Given the description of an element on the screen output the (x, y) to click on. 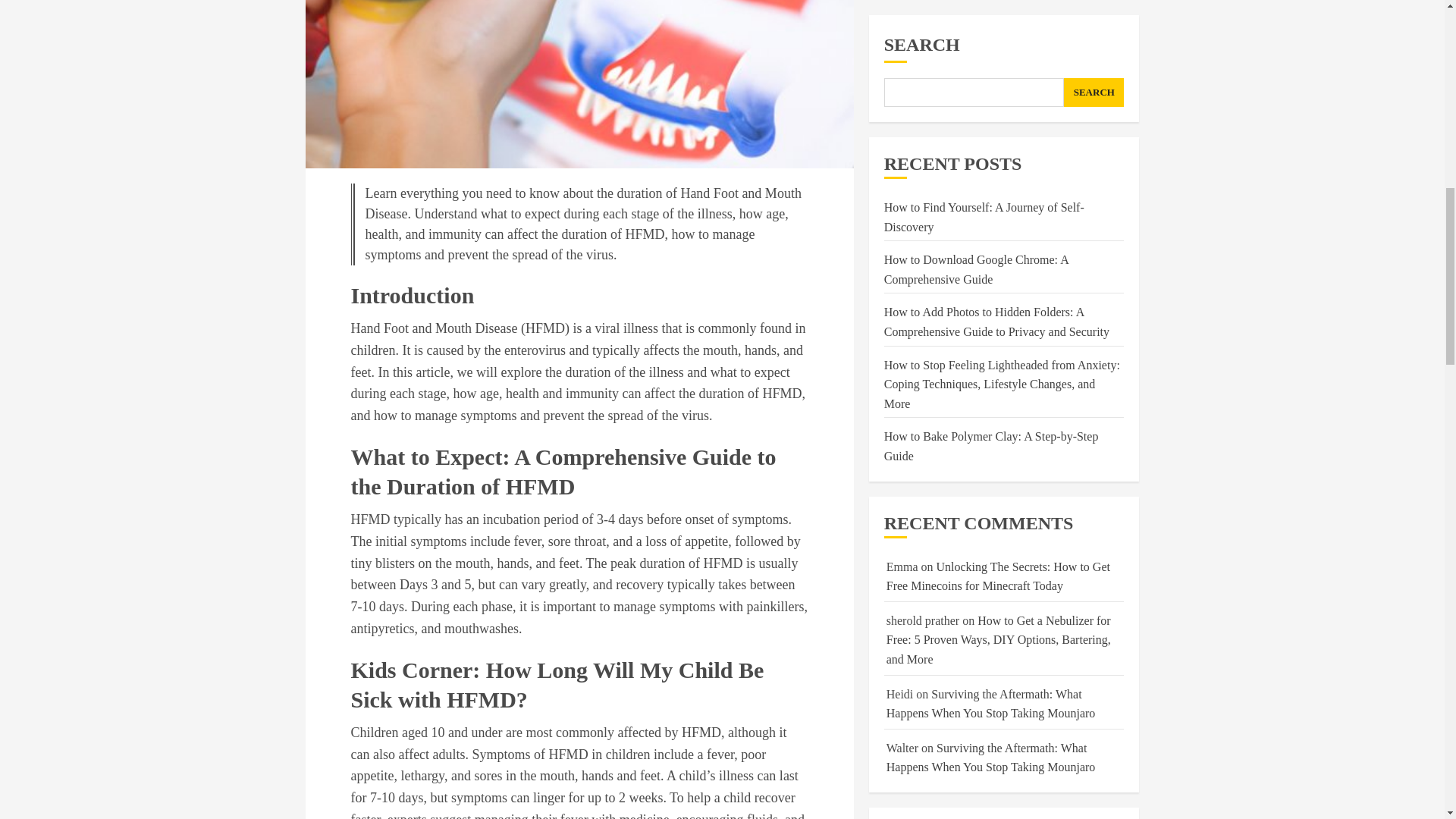
June 2023 (908, 326)
